Given the description of an element on the screen output the (x, y) to click on. 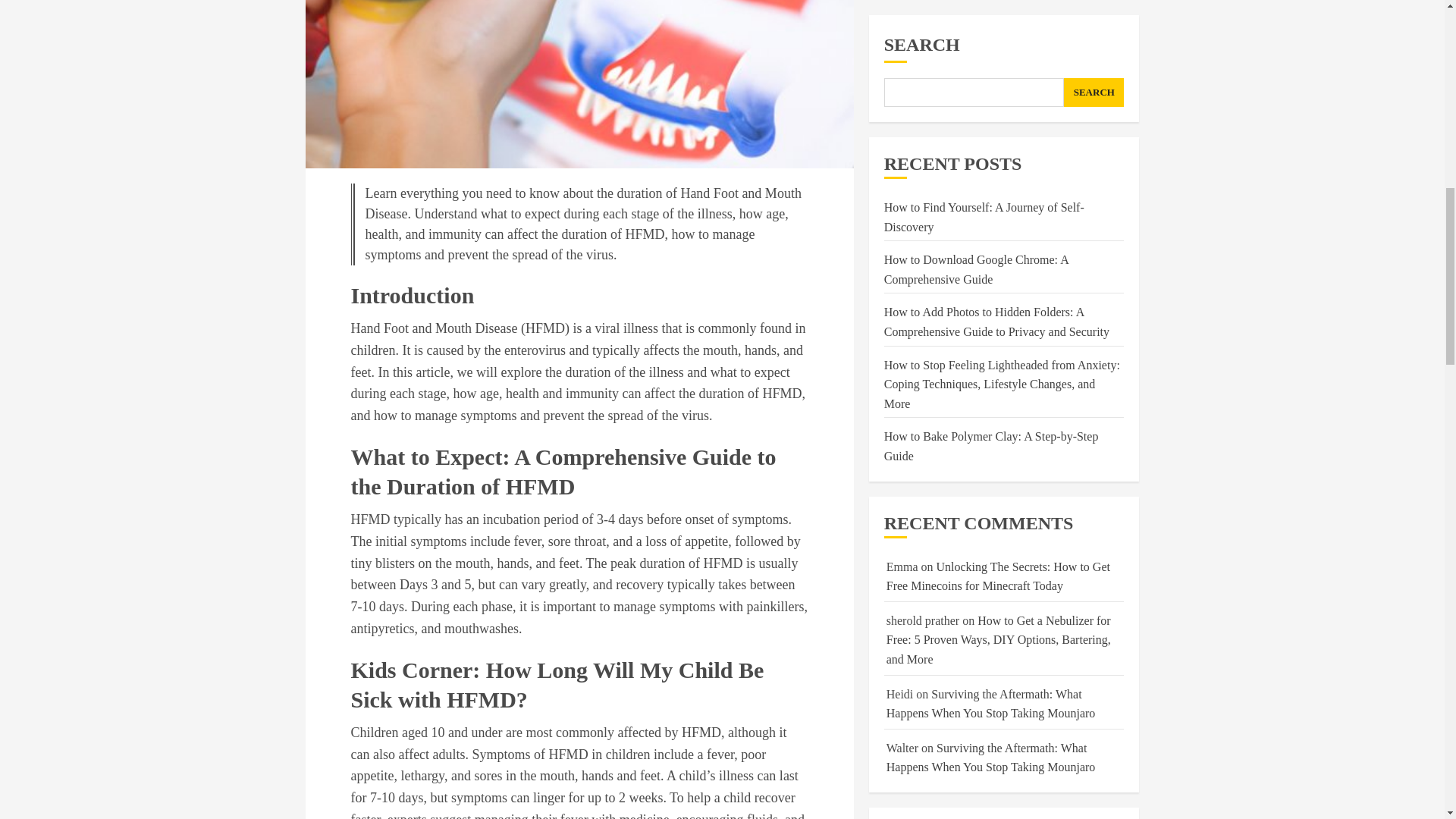
June 2023 (908, 326)
